Given the description of an element on the screen output the (x, y) to click on. 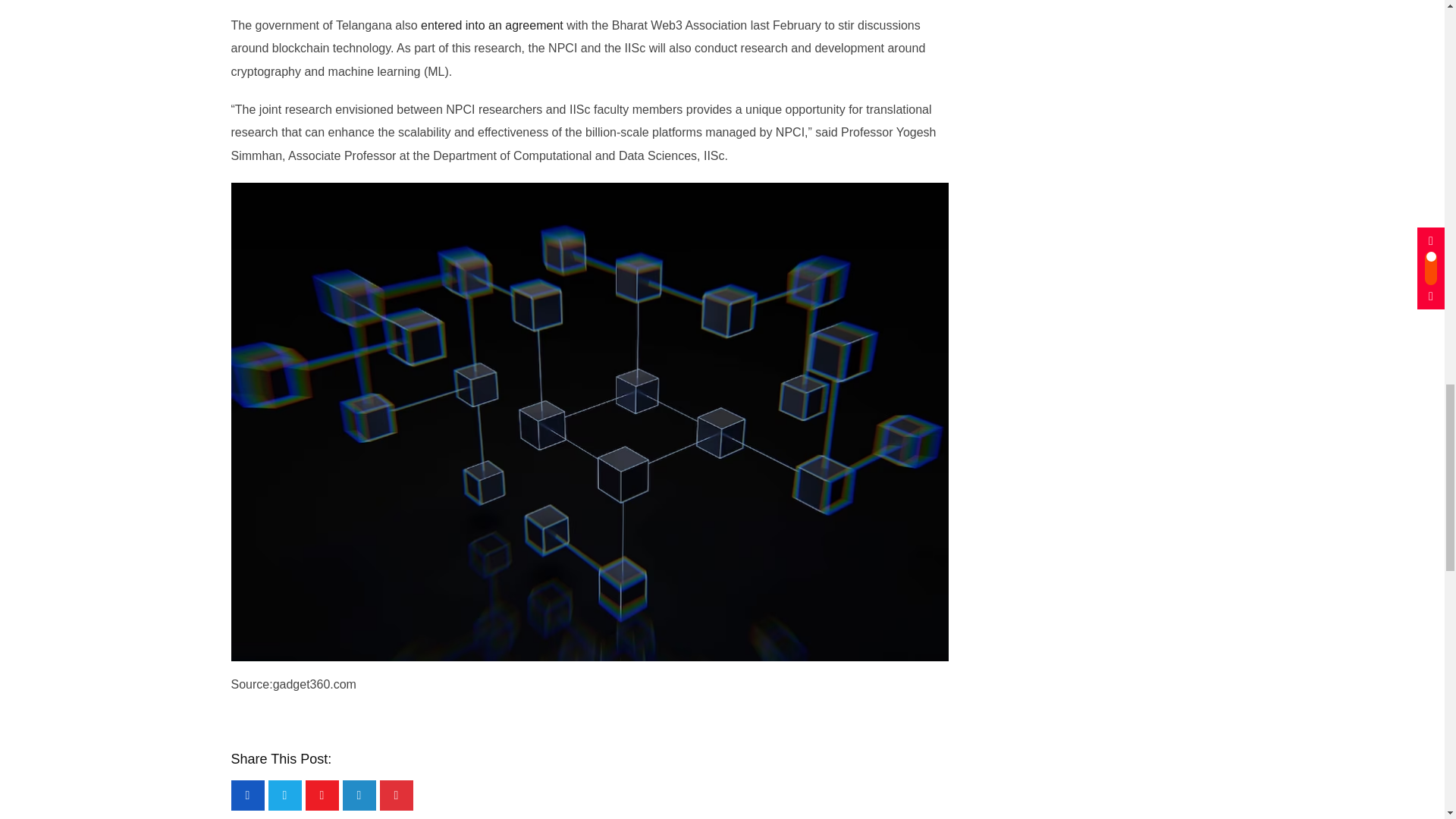
entered into an agreement (491, 24)
